Given the description of an element on the screen output the (x, y) to click on. 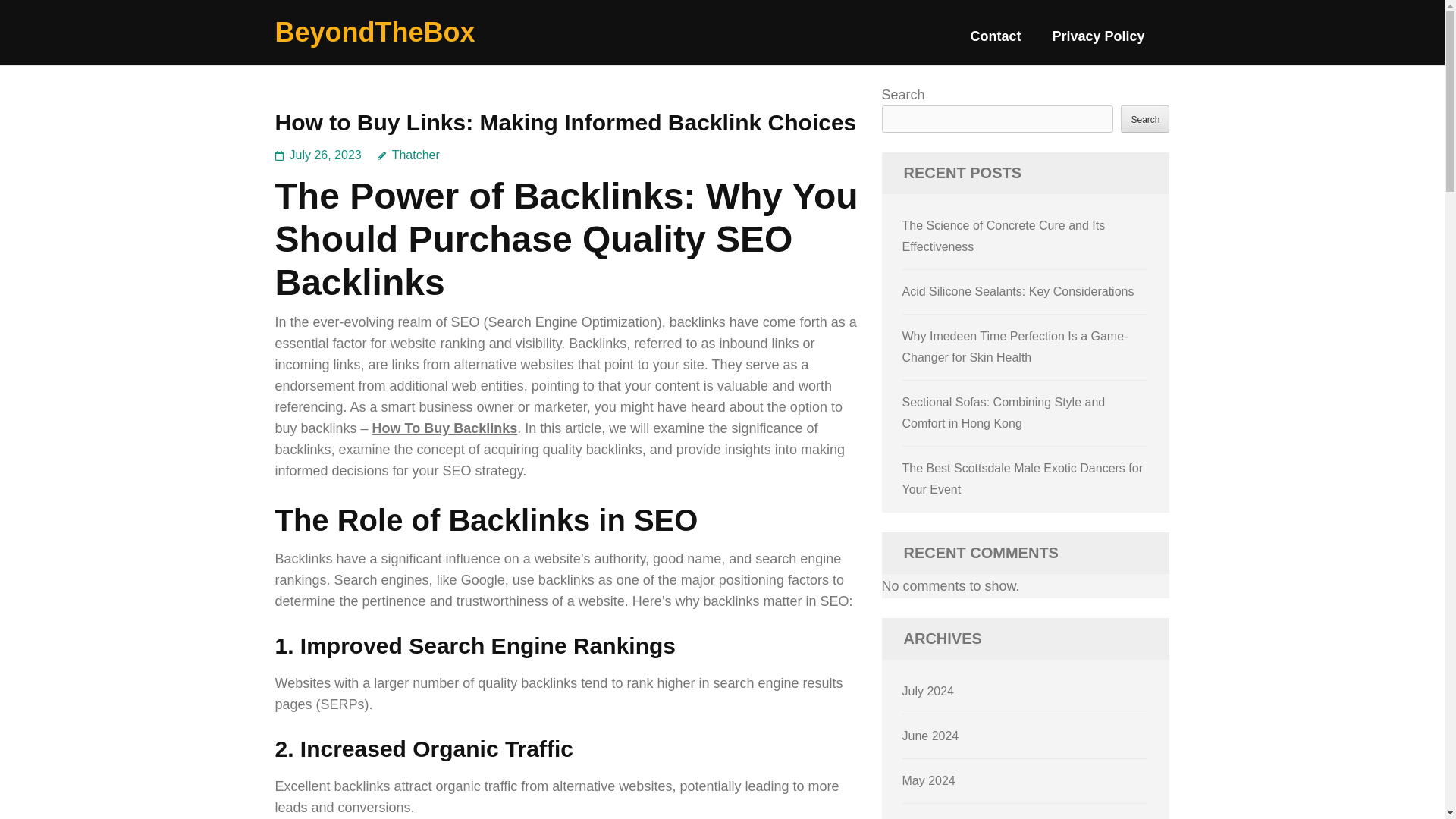
July 26, 2023 (325, 154)
Search (1145, 118)
Thatcher (408, 154)
BeyondTheBox (374, 31)
The Science of Concrete Cure and Its Effectiveness (1003, 236)
How To Buy Backlinks (445, 427)
Contact (994, 42)
July 2024 (928, 690)
Sectional Sofas: Combining Style and Comfort in Hong Kong (1003, 412)
June 2024 (930, 735)
Privacy Policy (1097, 42)
May 2024 (928, 780)
Acid Silicone Sealants: Key Considerations (1018, 291)
The Best Scottsdale Male Exotic Dancers for Your Event (1022, 478)
